Given the description of an element on the screen output the (x, y) to click on. 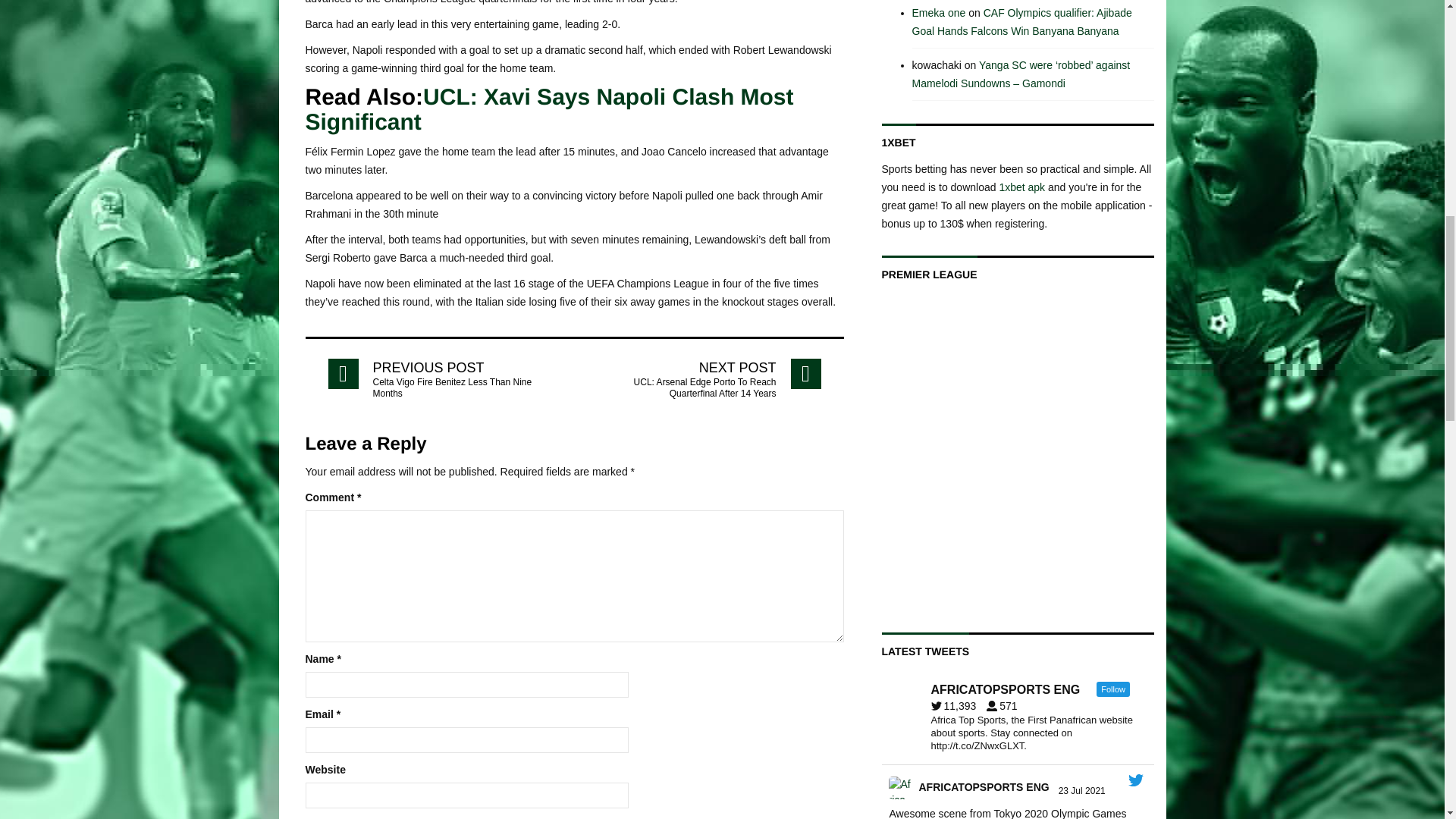
UCL: Xavi Says Napoli Clash Most Significant (548, 110)
